Given the description of an element on the screen output the (x, y) to click on. 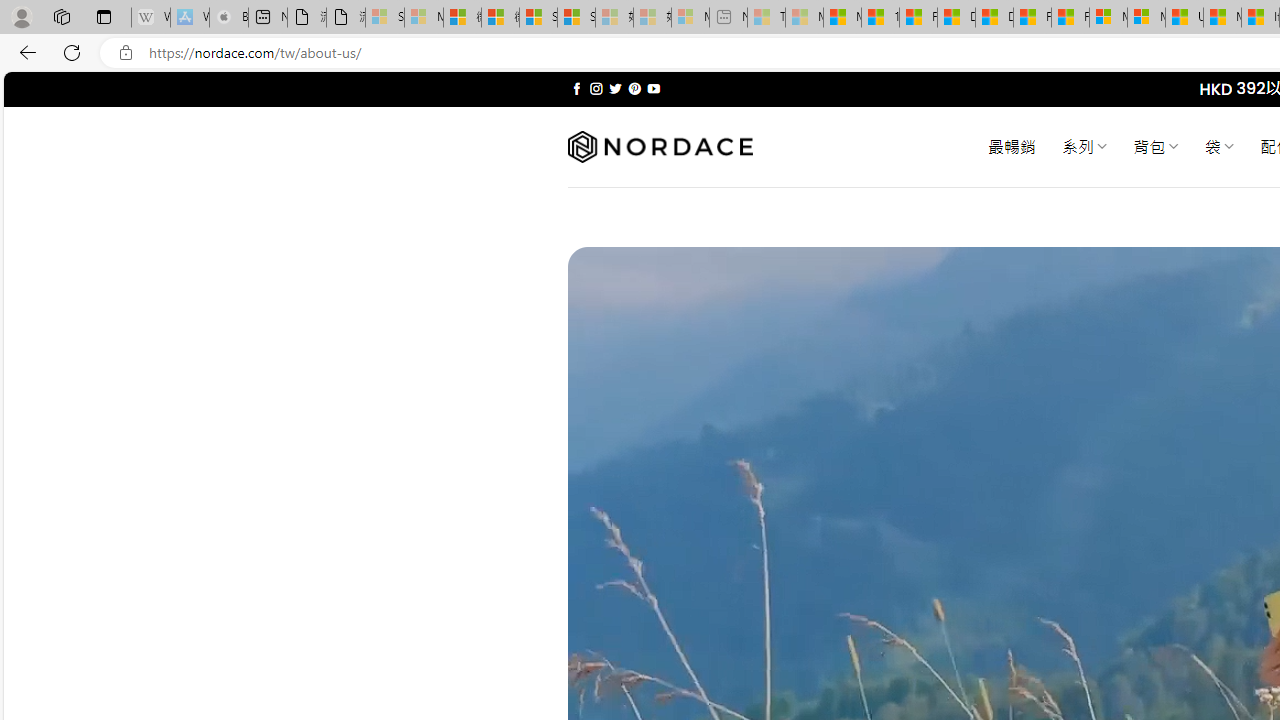
Drinking tea every day is proven to delay biological aging (993, 17)
Foo BAR | Trusted Community Engagement and Contributions (1070, 17)
